Given the description of an element on the screen output the (x, y) to click on. 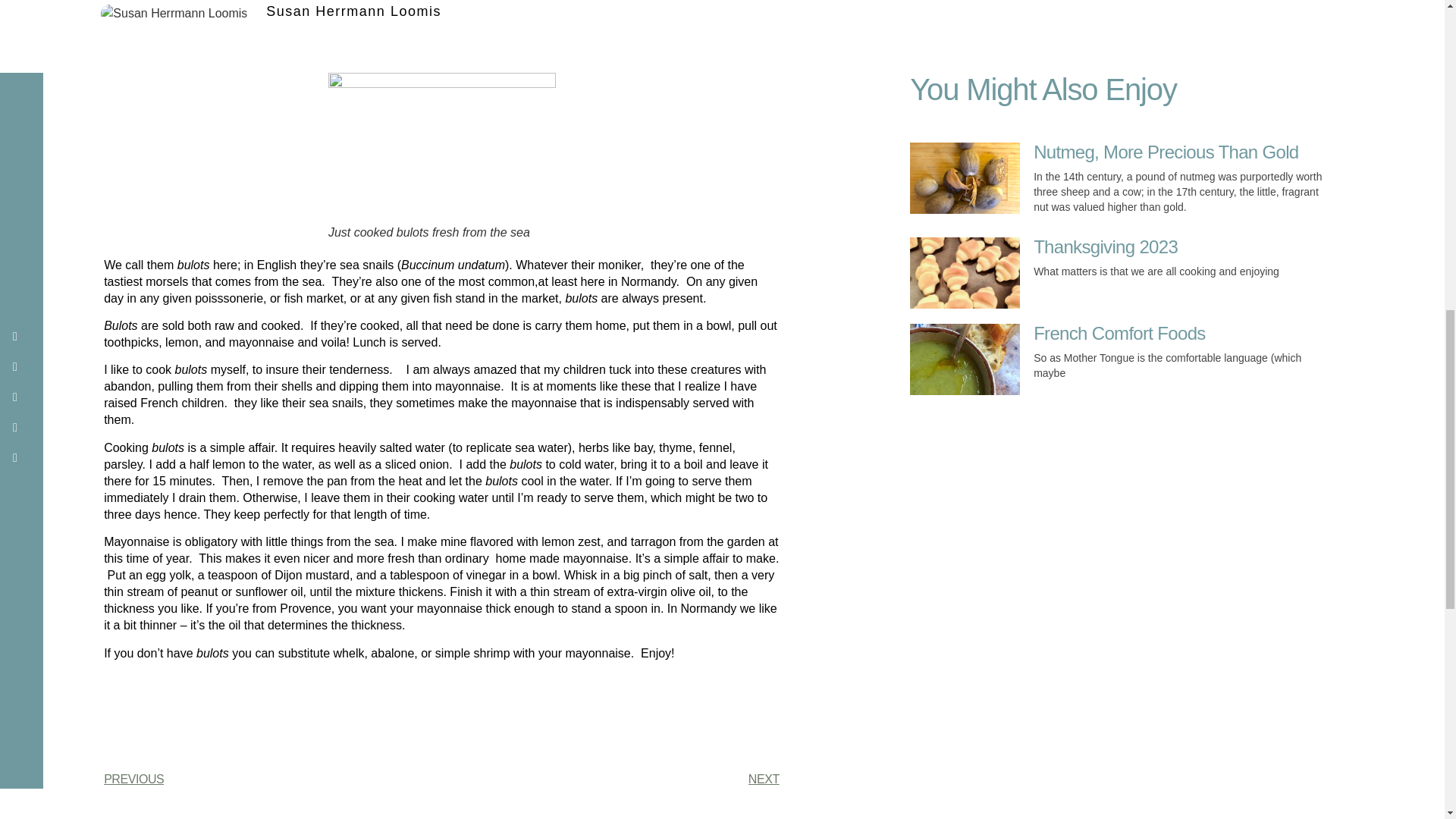
Nutmeg, More Precious Than Gold (1165, 151)
PREVIOUS (272, 779)
French Comfort Foods (1119, 332)
Thanksgiving 2023 (1105, 246)
NEXT (609, 779)
